Given the description of an element on the screen output the (x, y) to click on. 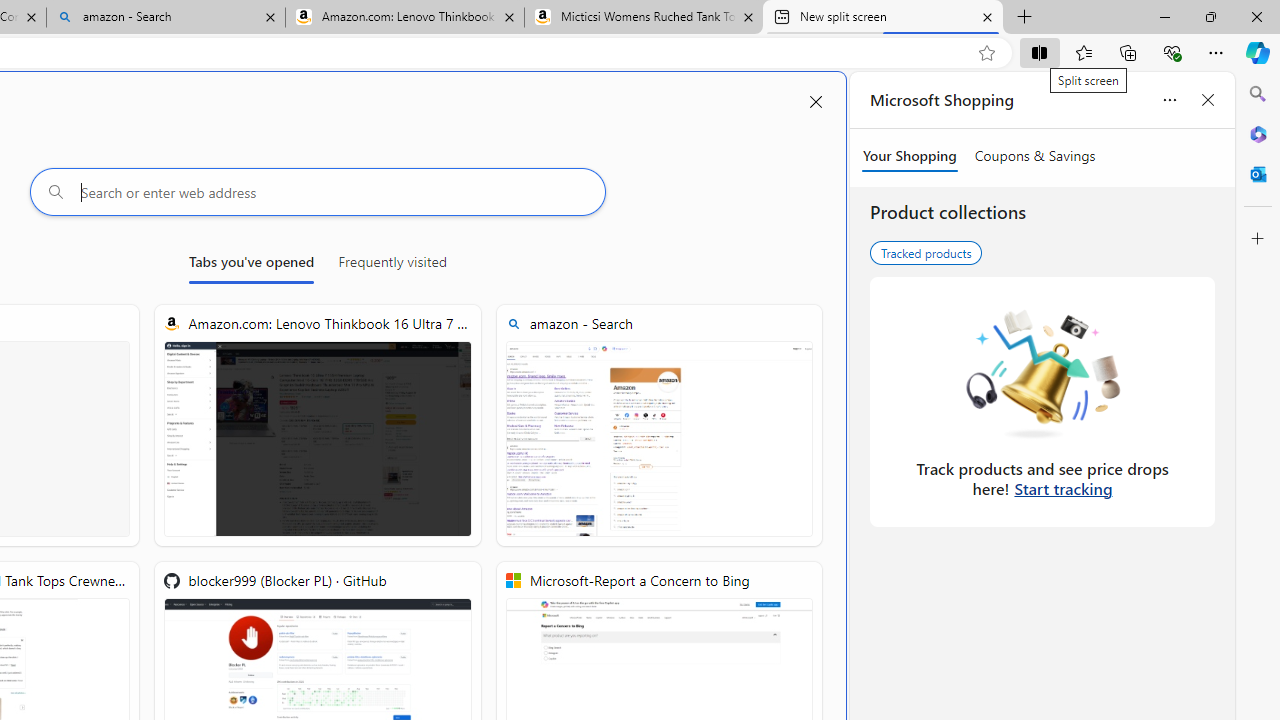
Add this page to favorites (Ctrl+D) (986, 53)
New Tab (1025, 17)
Microsoft 365 (1258, 133)
Close tab (987, 16)
Settings and more (Alt+F) (1215, 52)
amazon - Search (658, 426)
Minimize (1164, 16)
Outlook (1258, 174)
Search (1258, 94)
Collections (1128, 52)
Favorites (1083, 52)
